Given the description of an element on the screen output the (x, y) to click on. 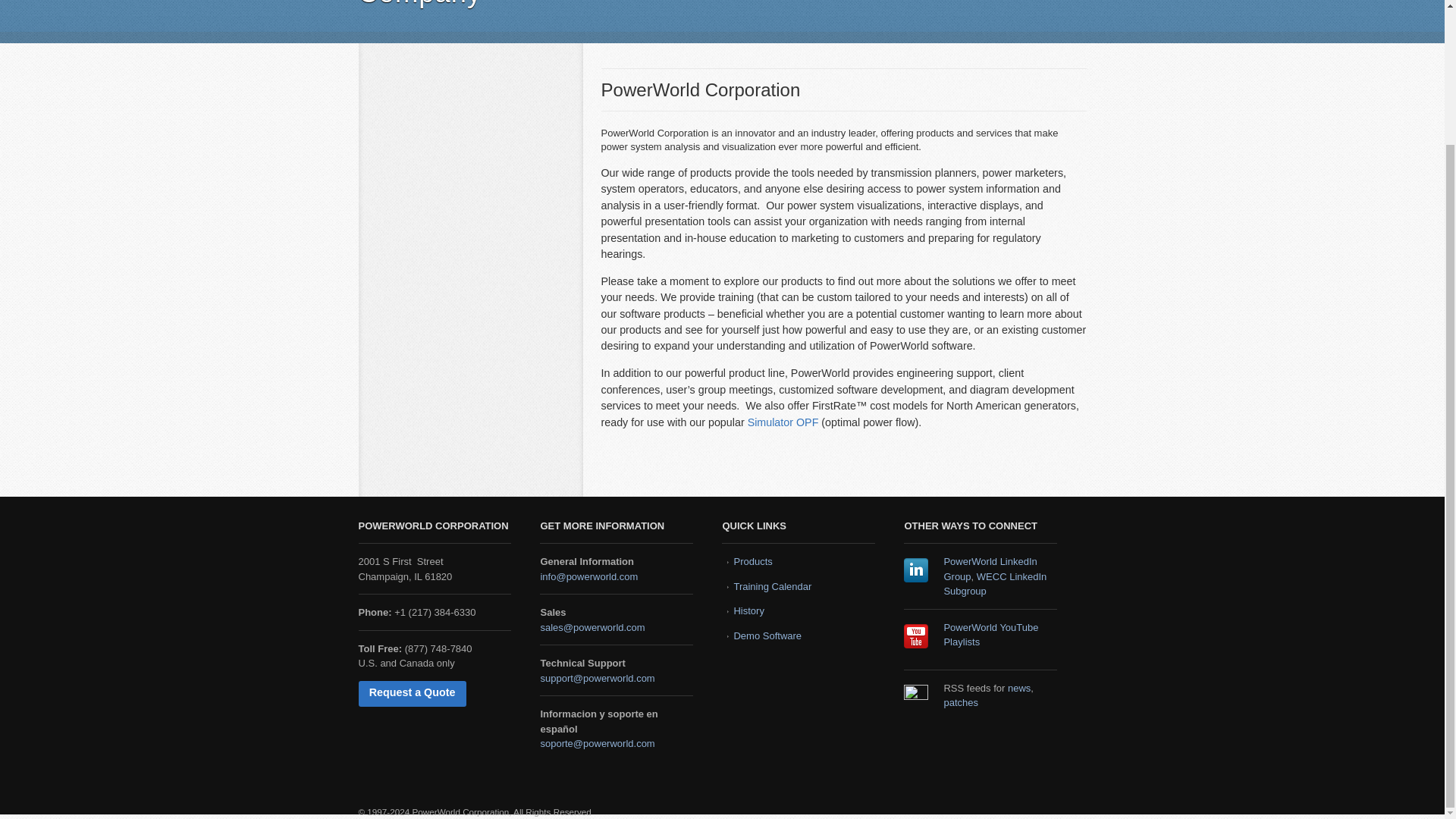
Simulator OPF (783, 422)
Request a Quote (411, 693)
youtube (916, 636)
linked-in (916, 569)
rss-large (916, 696)
